Given the description of an element on the screen output the (x, y) to click on. 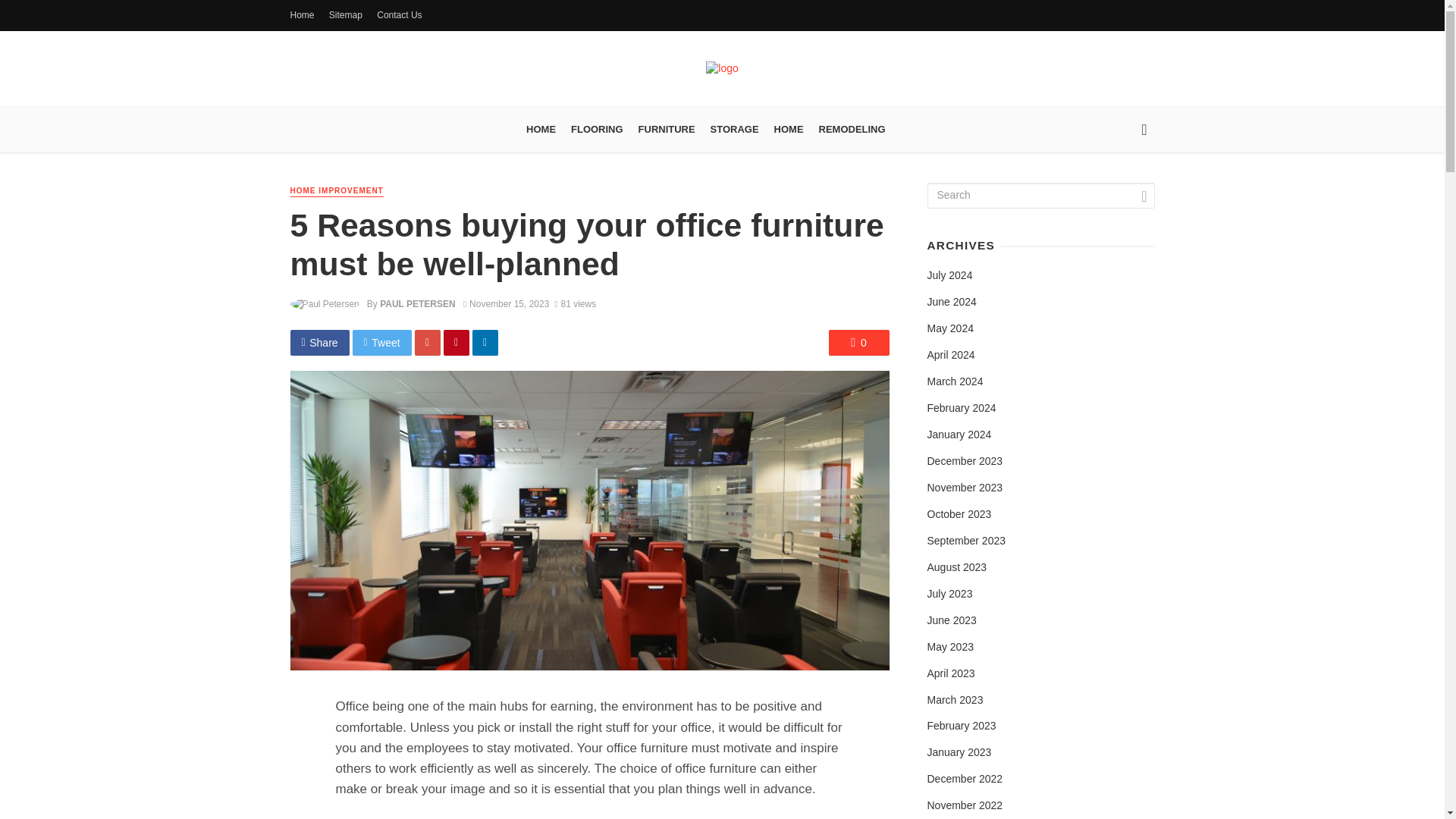
HOME (540, 129)
0 Comments (858, 342)
Share on Pinterest (456, 342)
July 2024 (949, 275)
April 2024 (950, 355)
Share on Facebook (319, 342)
June 2024 (950, 302)
January 2024 (958, 435)
Share on Twitter (382, 342)
Posts by Paul Petersen (417, 303)
PAUL PETERSEN (417, 303)
Tweet (382, 342)
Contact Us (399, 14)
STORAGE (735, 129)
February 2024 (960, 408)
